Given the description of an element on the screen output the (x, y) to click on. 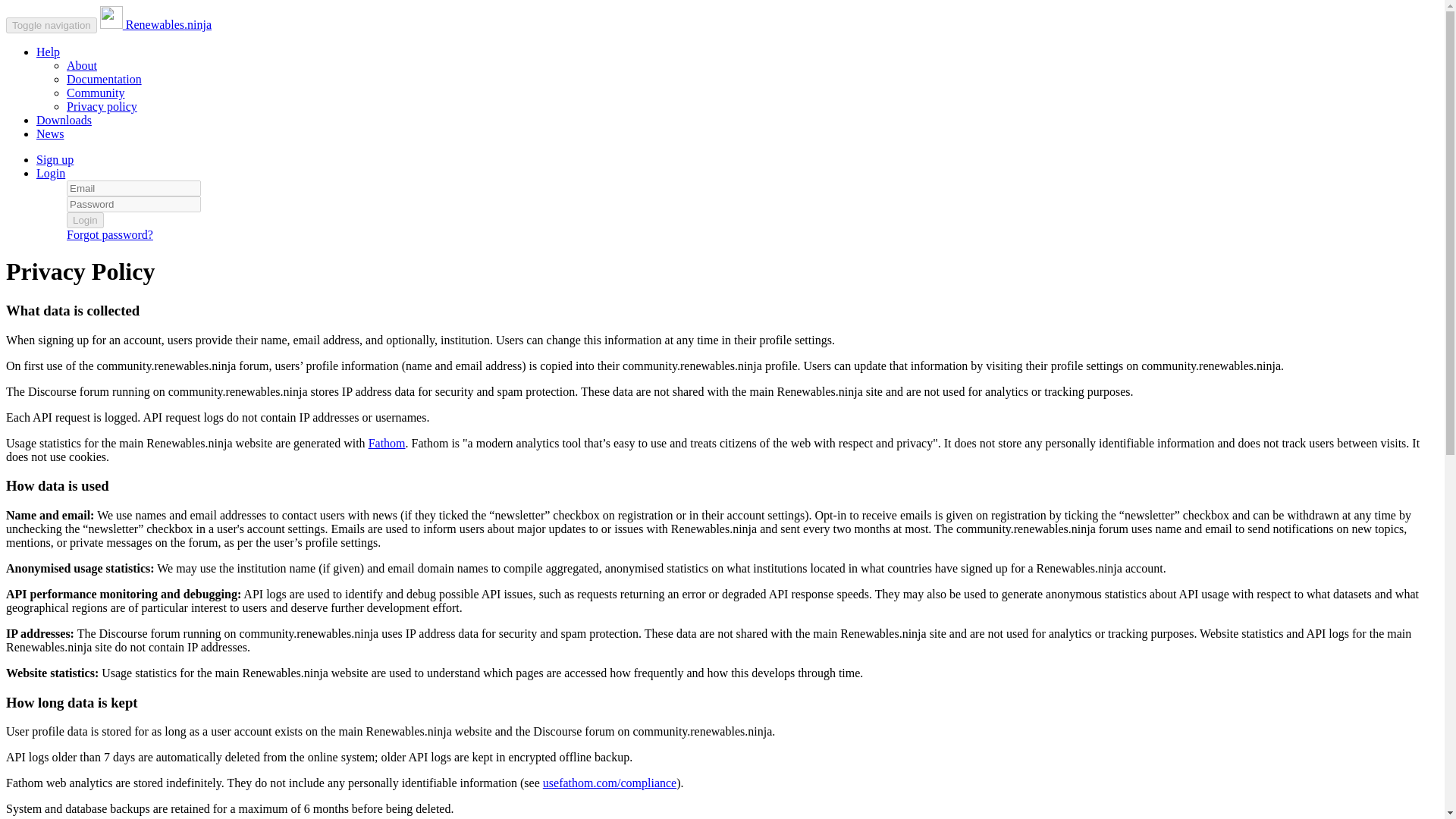
Renewables.ninja (155, 24)
News (50, 133)
Documentation (103, 78)
Forgot password? (109, 234)
Login (50, 173)
Help (47, 51)
Sign up (55, 159)
Toggle navigation (51, 25)
Privacy policy (101, 106)
About (81, 65)
